Given the description of an element on the screen output the (x, y) to click on. 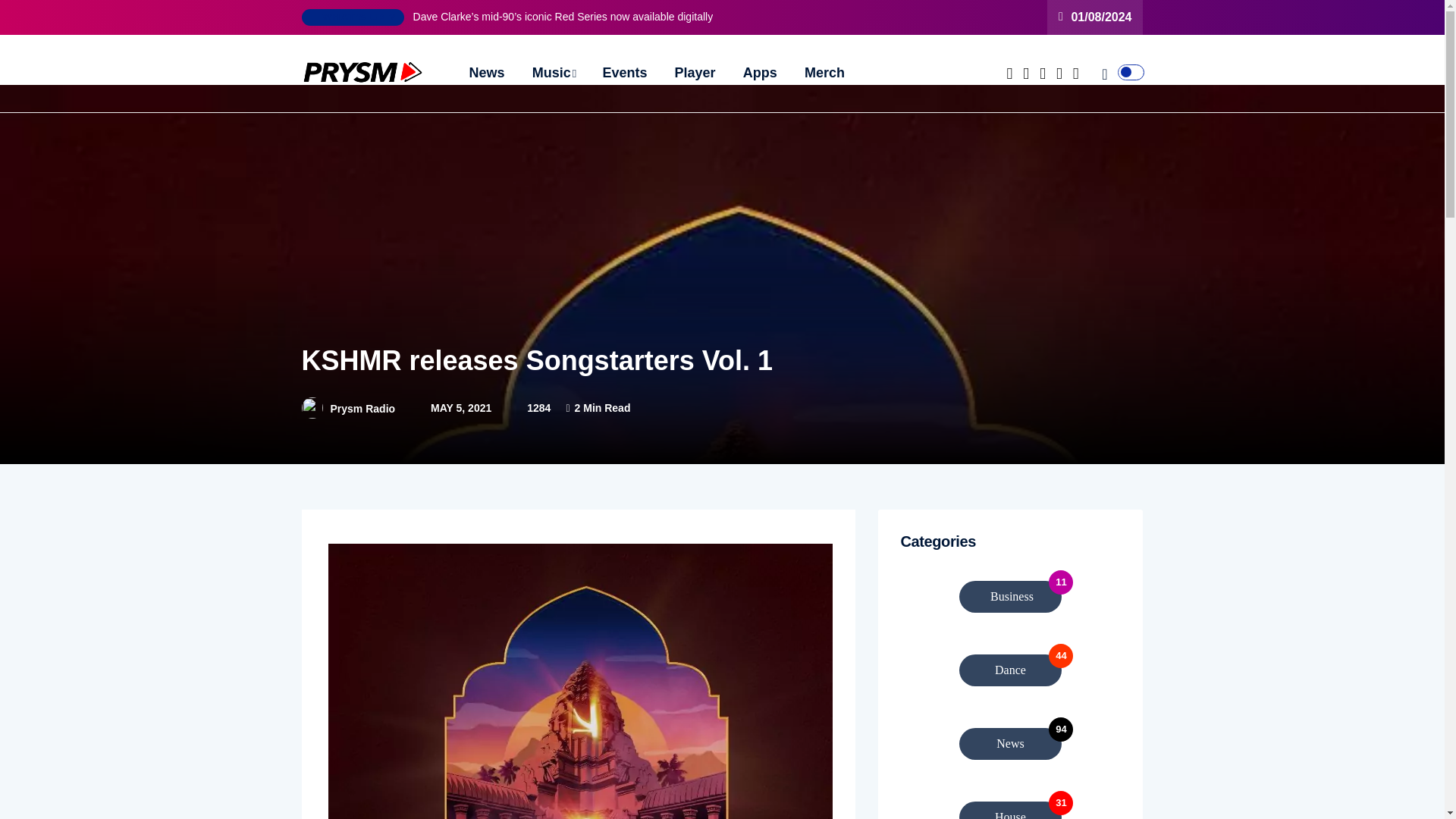
Prysm Radio (1011, 670)
Events (1011, 802)
